Given the description of an element on the screen output the (x, y) to click on. 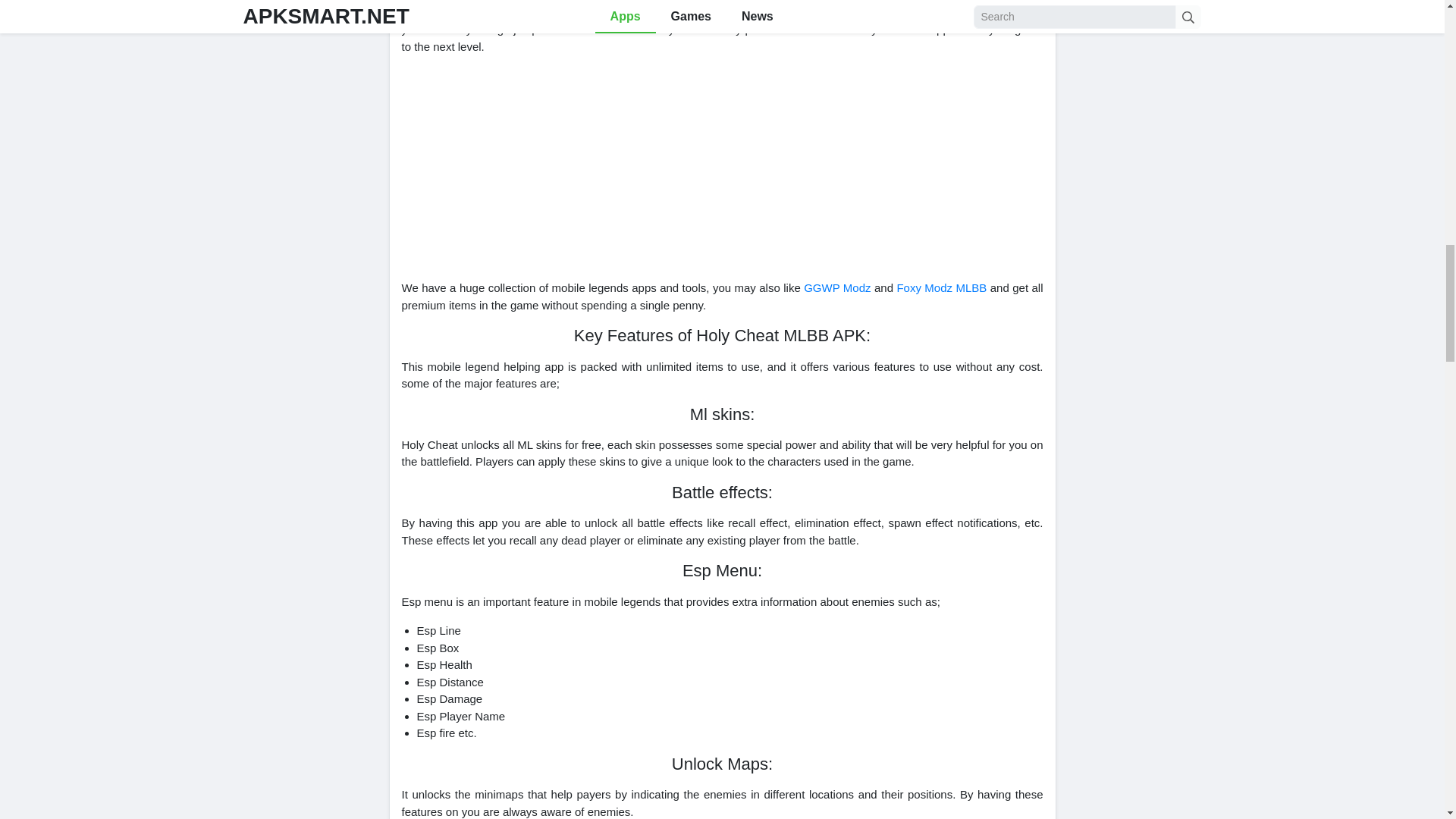
Foxy Modz MLBB (941, 287)
GGWP Modz (836, 287)
